Given the description of an element on the screen output the (x, y) to click on. 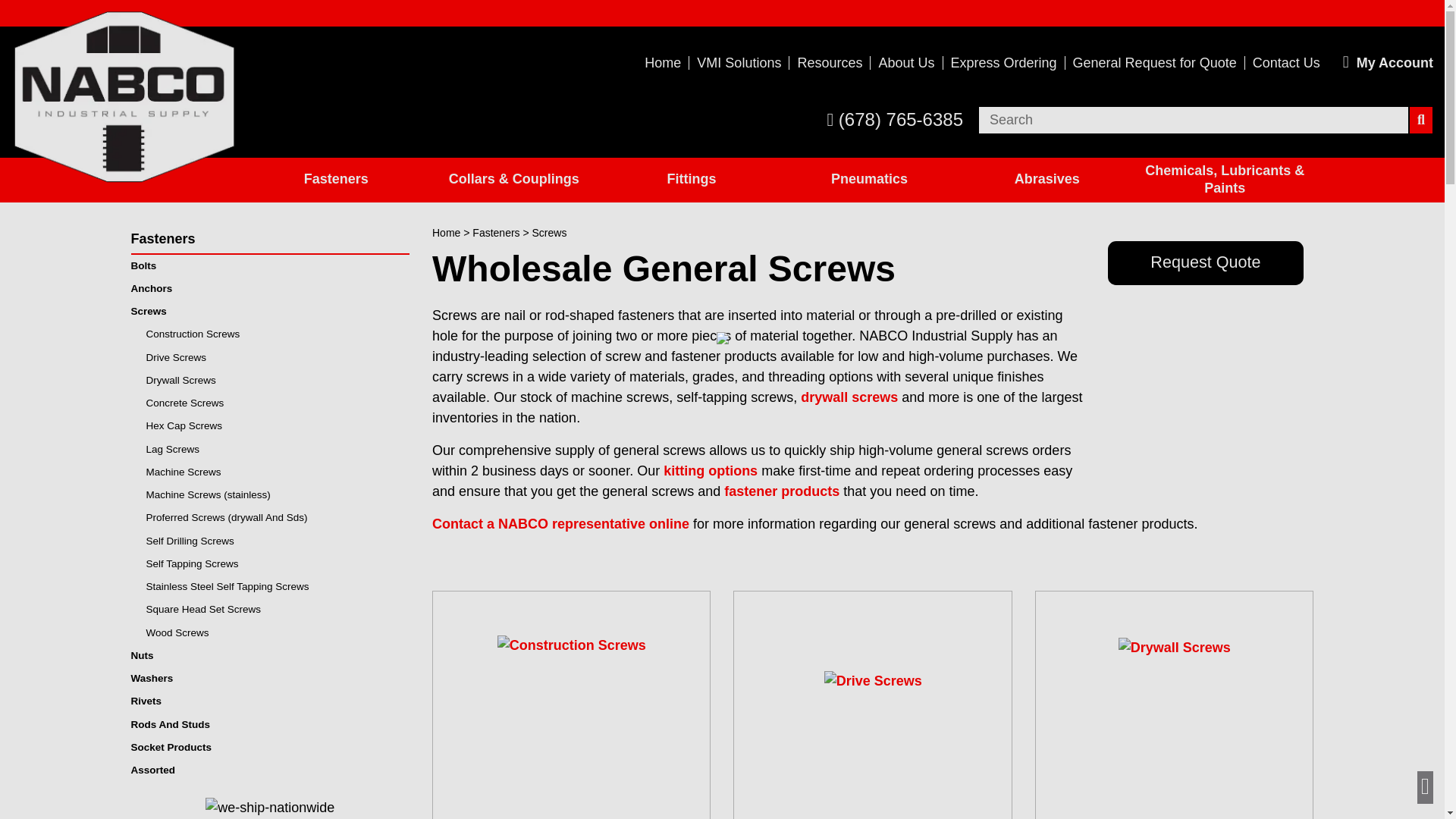
VMI Solutions (738, 62)
Abrasives (1046, 180)
General Request for Quote (1154, 62)
My Account (1387, 62)
Fasteners (336, 180)
Resources (829, 62)
Pneumatics (869, 180)
Home (662, 62)
Contact Us (1285, 62)
Fittings (691, 180)
